Given the description of an element on the screen output the (x, y) to click on. 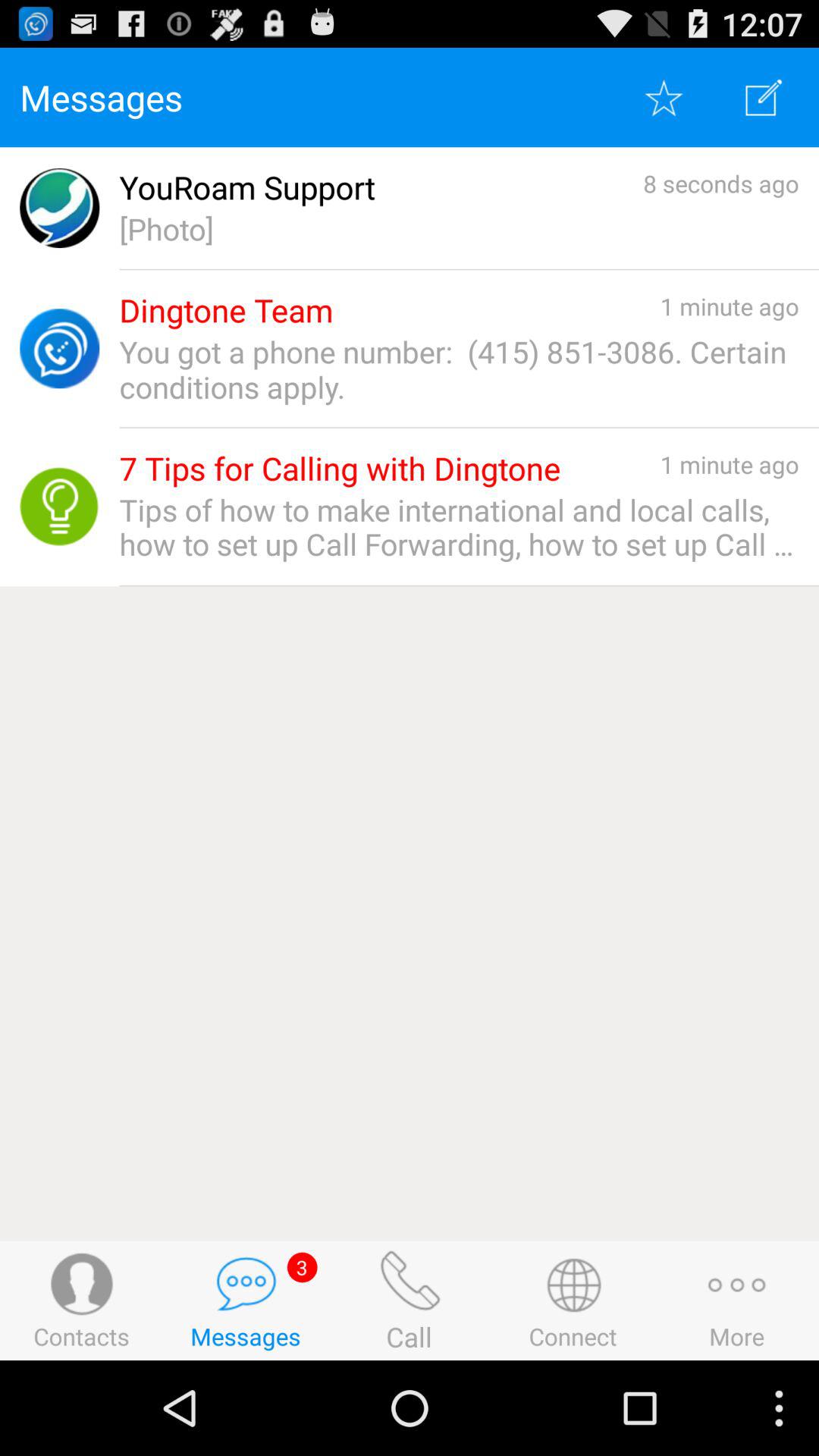
jump to the 8 seconds ago app (721, 183)
